Given the description of an element on the screen output the (x, y) to click on. 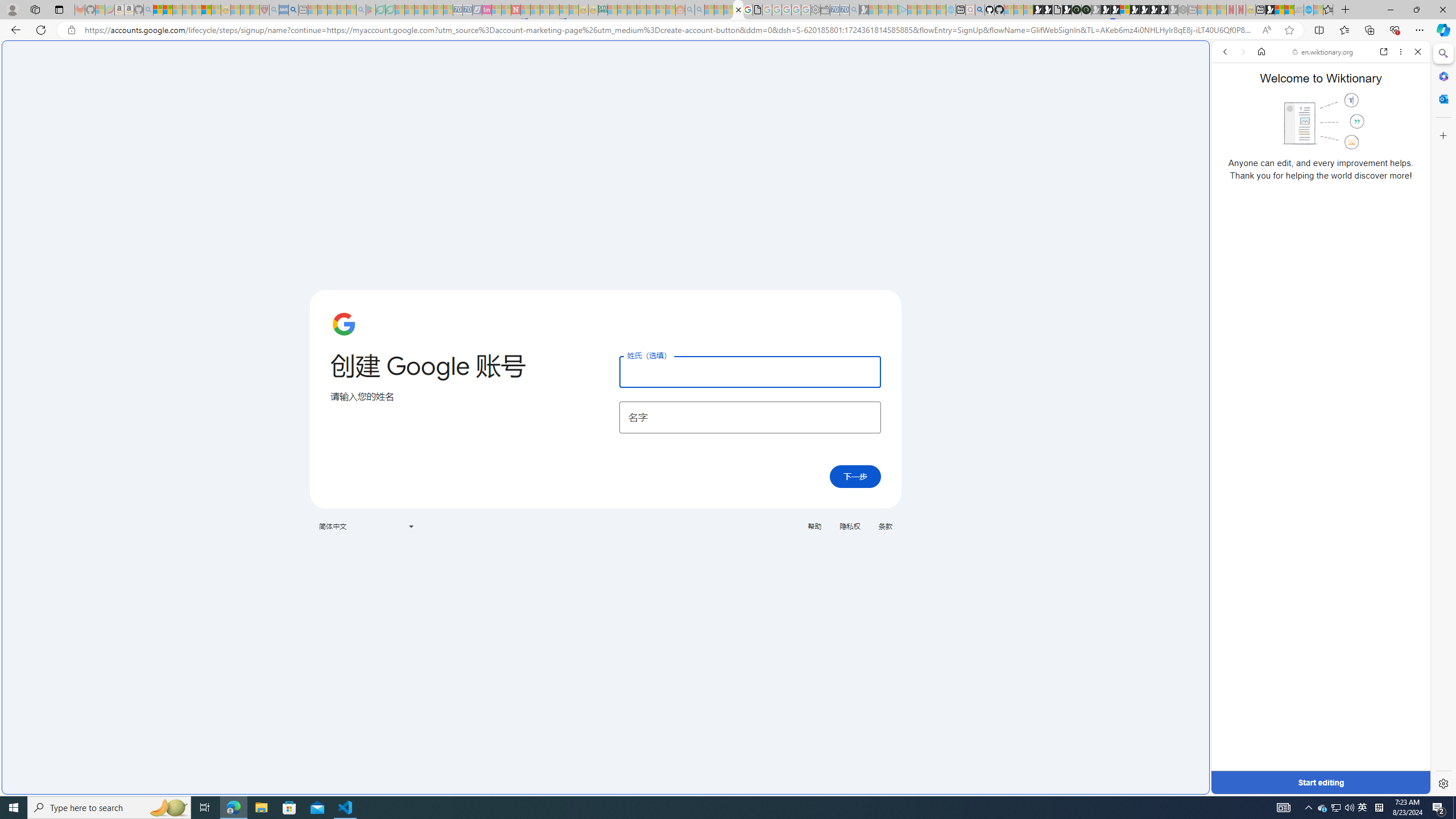
utah sues federal government - Search (922, 389)
